Given the description of an element on the screen output the (x, y) to click on. 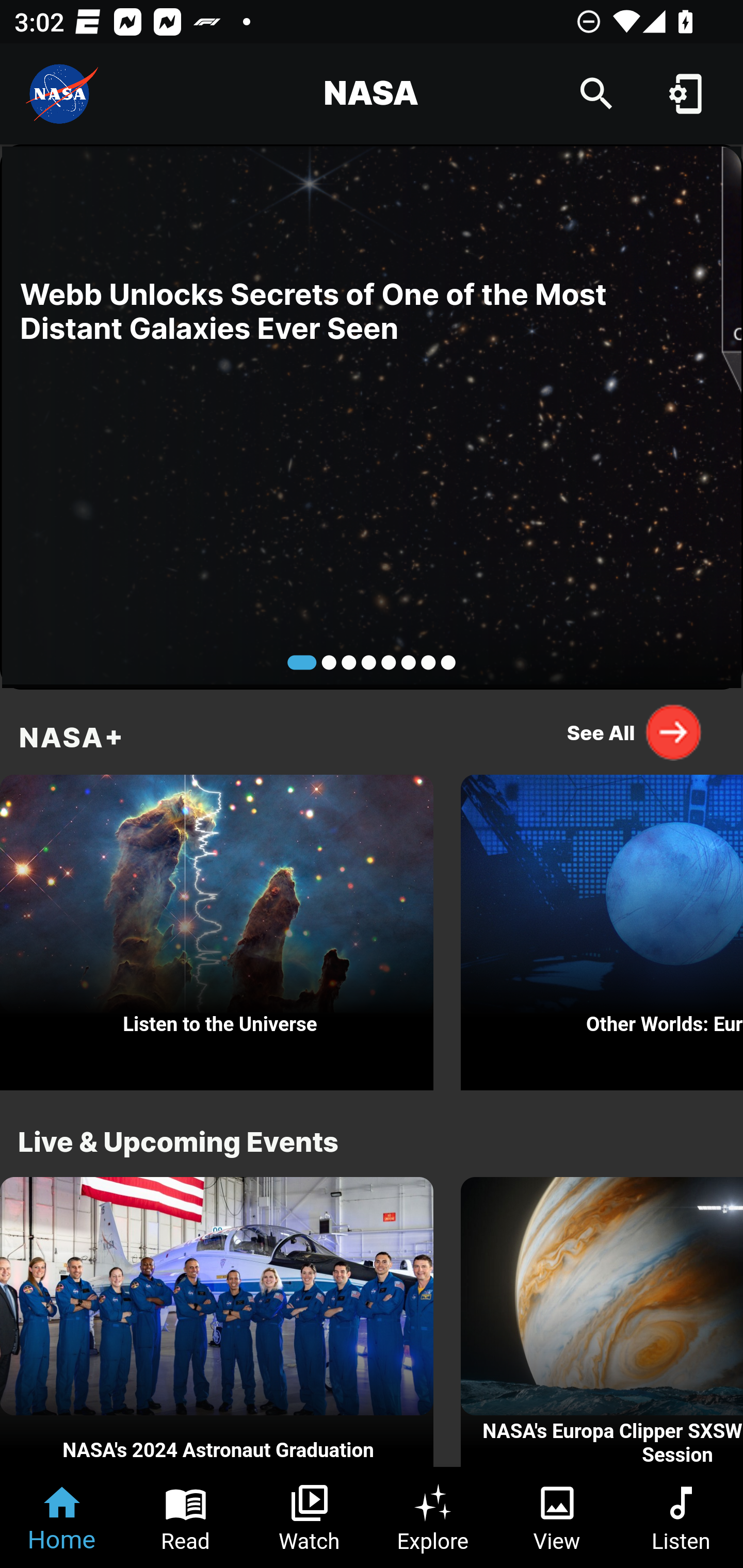
See All (634, 732)
Listen to the Universe (216, 927)
Other Worlds: Europa (601, 927)
NASA's 2024 Astronaut Graduation (216, 1322)
NASA's Europa Clipper SXSW 2024 Opening Session (601, 1322)
Home
Tab 1 of 6 (62, 1517)
Read
Tab 2 of 6 (185, 1517)
Watch
Tab 3 of 6 (309, 1517)
Explore
Tab 4 of 6 (433, 1517)
View
Tab 5 of 6 (556, 1517)
Listen
Tab 6 of 6 (680, 1517)
